Given the description of an element on the screen output the (x, y) to click on. 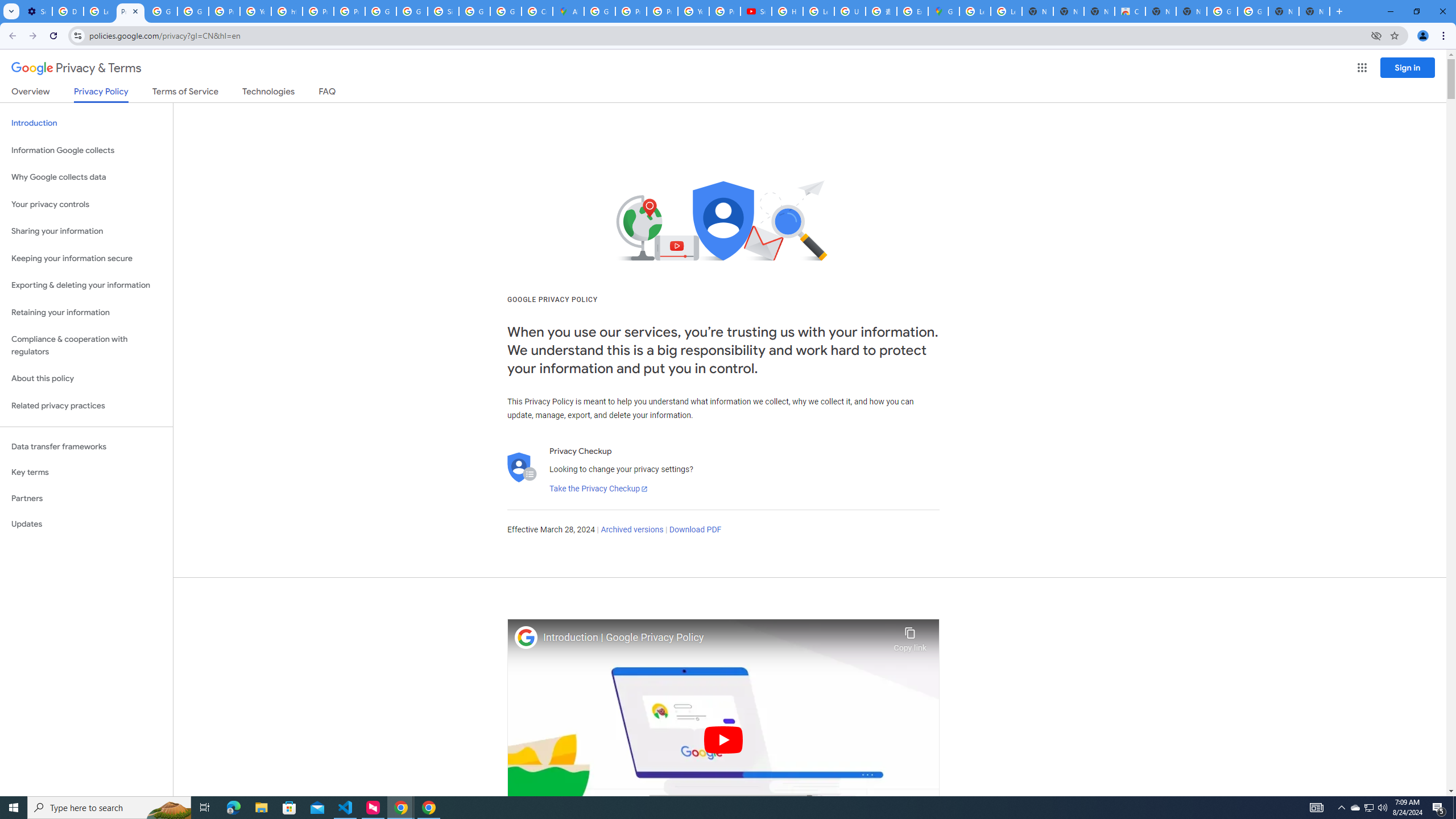
Download PDF (695, 529)
Play (723, 739)
Sign in - Google Accounts (443, 11)
Exporting & deleting your information (86, 284)
Key terms (86, 472)
Google Account Help (161, 11)
Create your Google Account (536, 11)
